Given the description of an element on the screen output the (x, y) to click on. 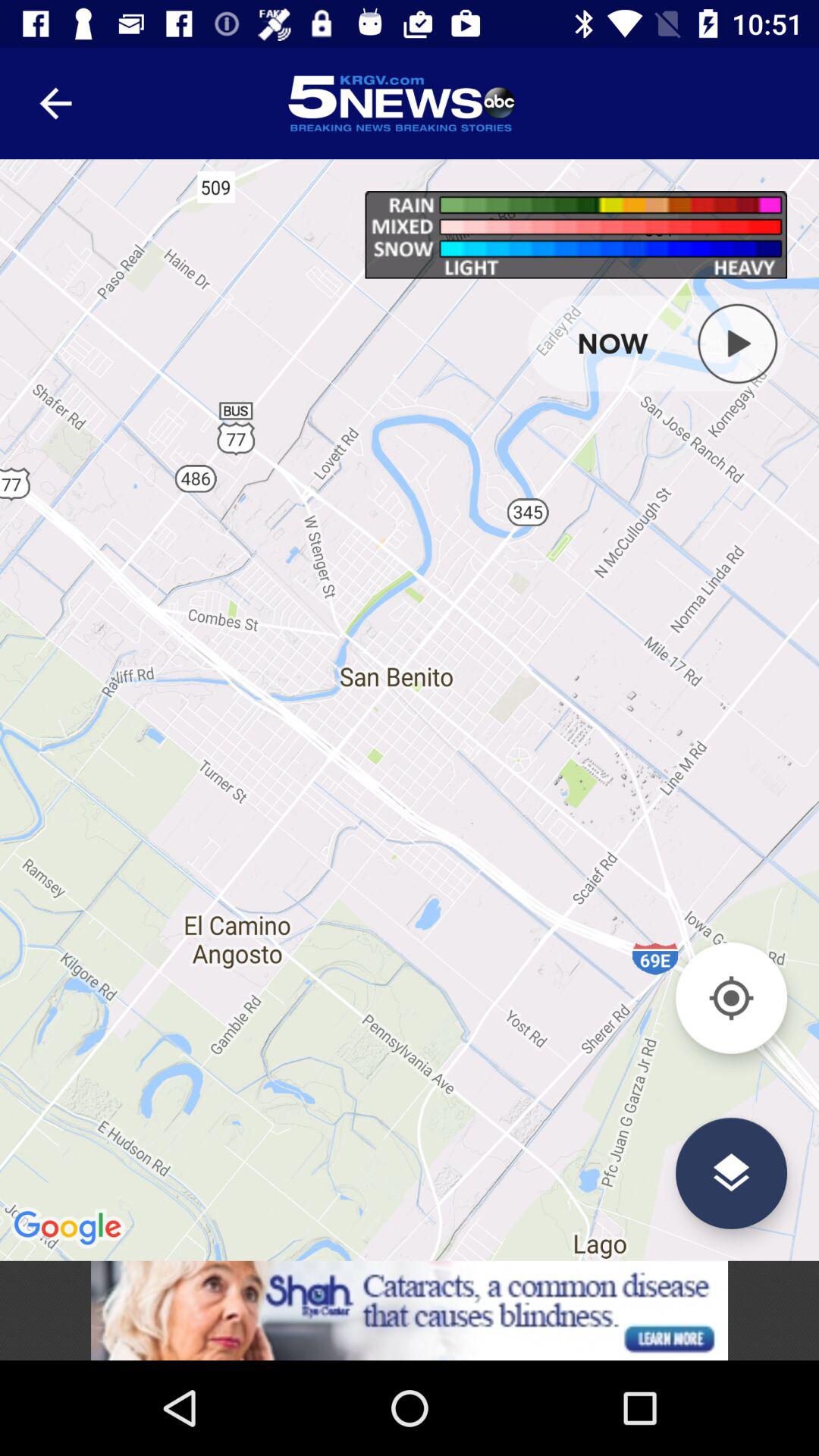
change layer view (731, 1173)
